Given the description of an element on the screen output the (x, y) to click on. 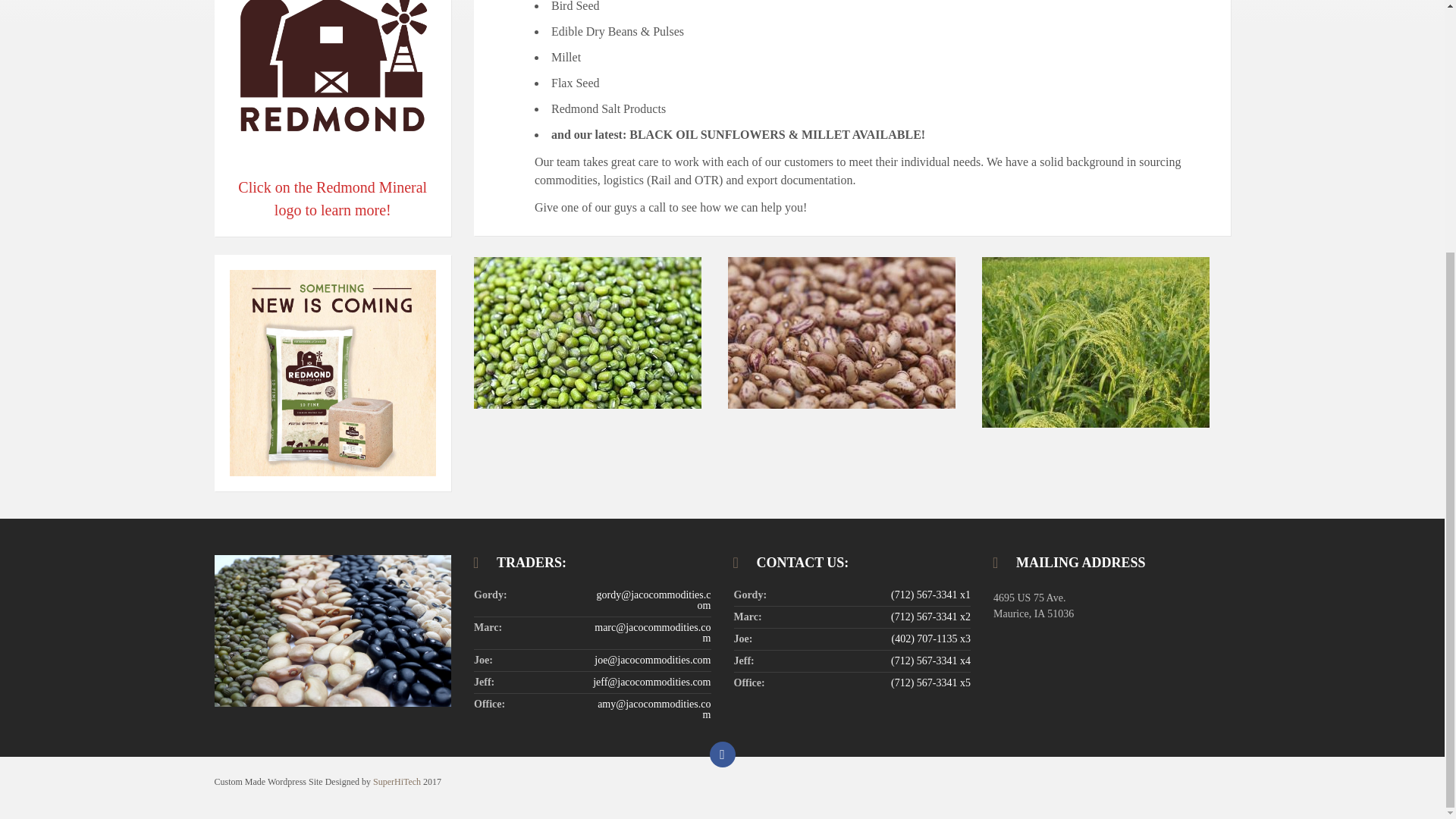
SuperHiTech (396, 781)
